Given the description of an element on the screen output the (x, y) to click on. 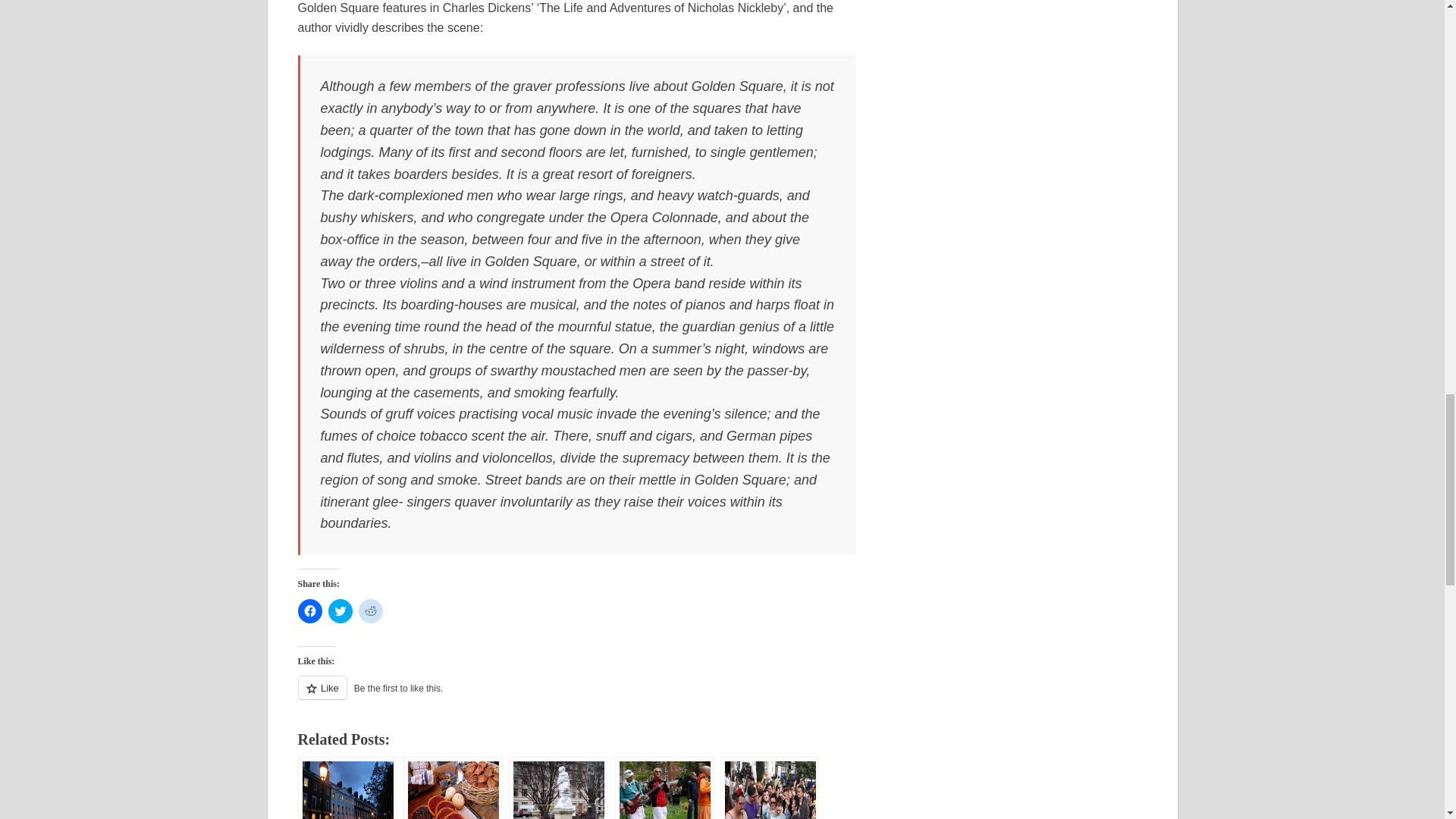
Early evening, Soho and Bedford Square (346, 787)
Trussed and bound: King George II at Golden Square, London (557, 787)
London Soho Square: The Hari Krishna guys go electric (663, 787)
Click to share on Twitter (339, 610)
Click to share on Facebook (309, 610)
Like or Reblog (575, 696)
Click to share on Reddit (369, 610)
